Given the description of an element on the screen output the (x, y) to click on. 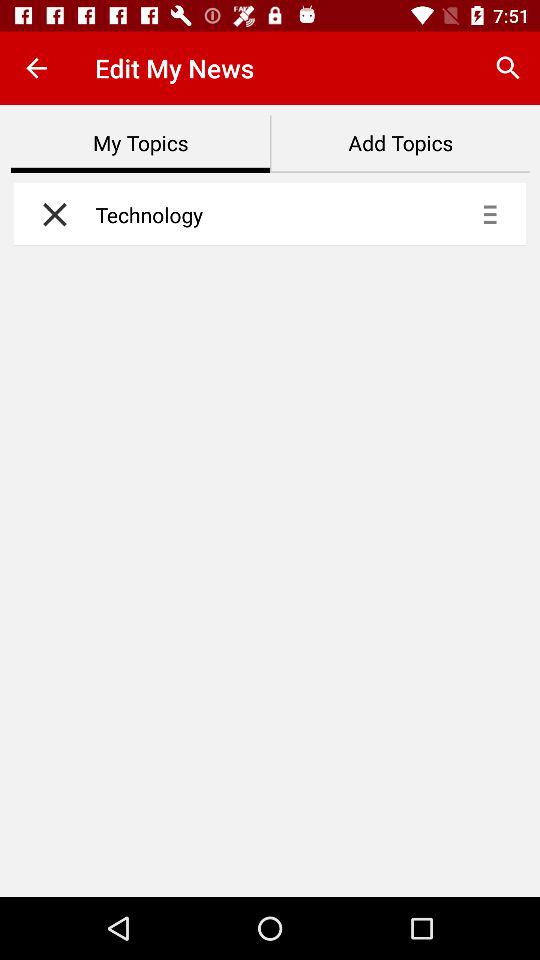
tap the icon to the right of edit my news icon (508, 67)
